Given the description of an element on the screen output the (x, y) to click on. 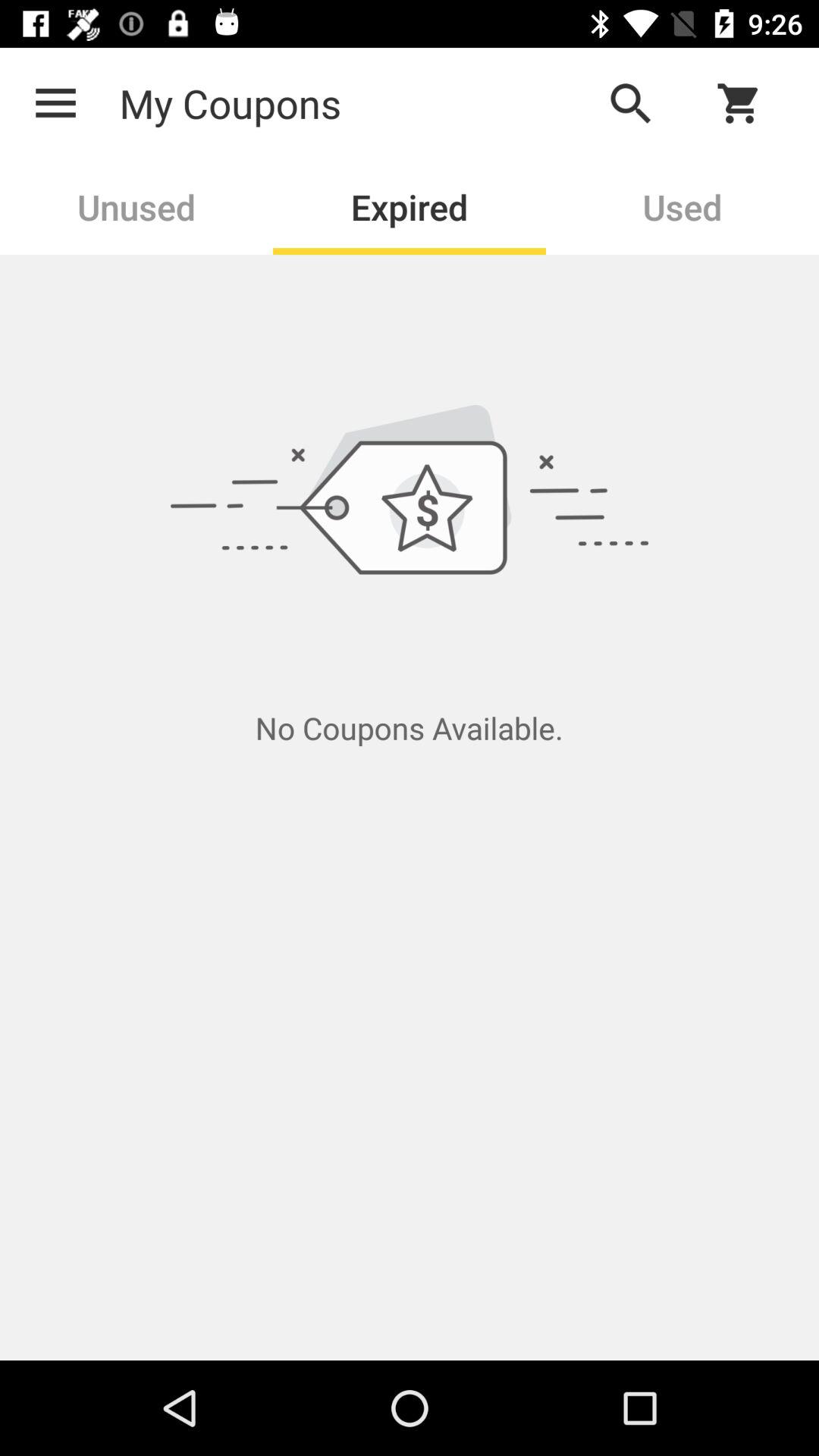
check cart (748, 103)
